Given the description of an element on the screen output the (x, y) to click on. 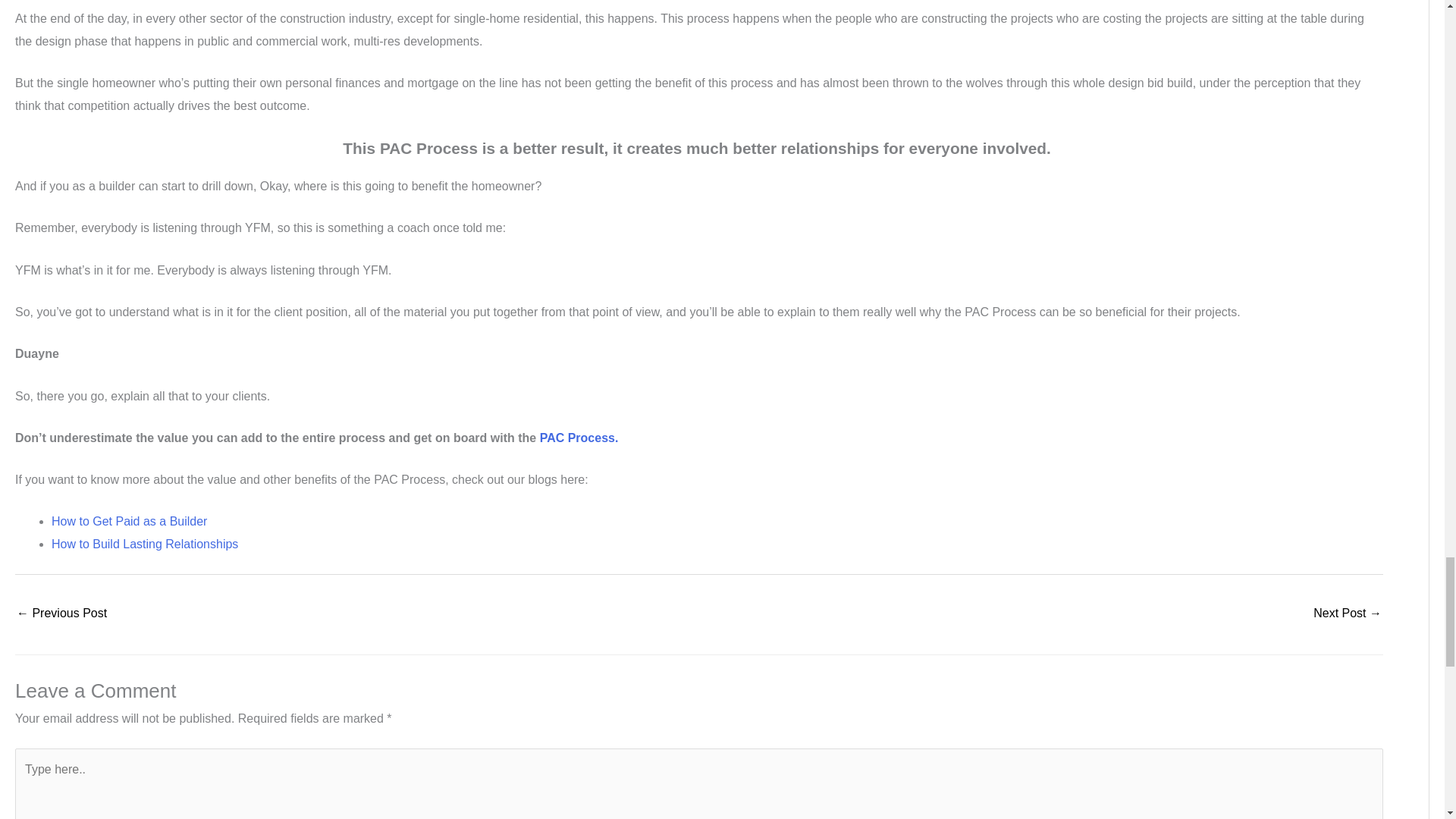
PAC Process. (579, 437)
How to Build Lasting Relationships (144, 543)
How to Build Lasting Client Relationships as a Home Builder (61, 614)
How to Get Paid as a Builder (128, 521)
